Given the description of an element on the screen output the (x, y) to click on. 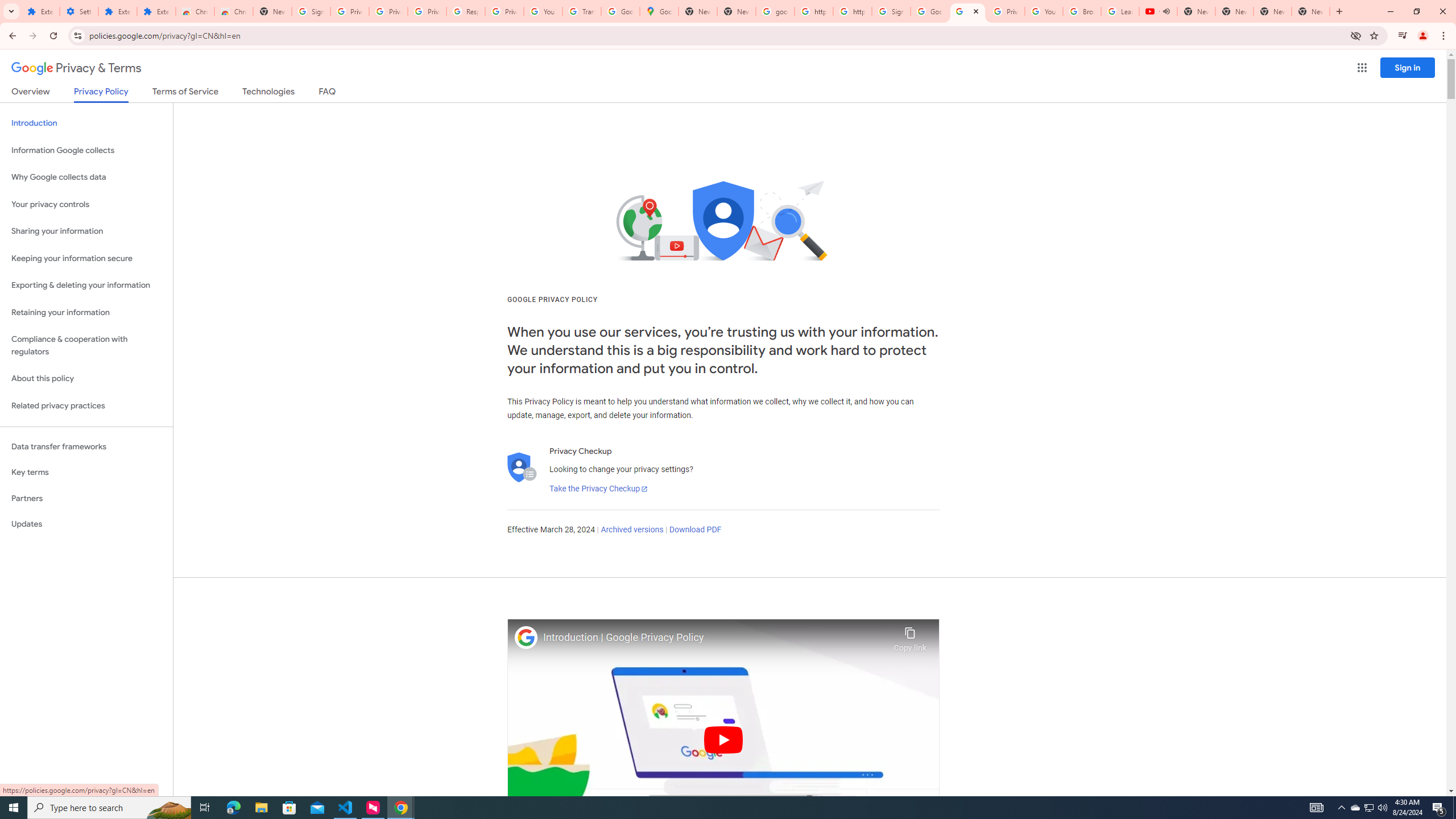
New Tab (272, 11)
Chrome Web Store (194, 11)
Chrome Web Store - Themes (233, 11)
Copy link (909, 636)
